Given the description of an element on the screen output the (x, y) to click on. 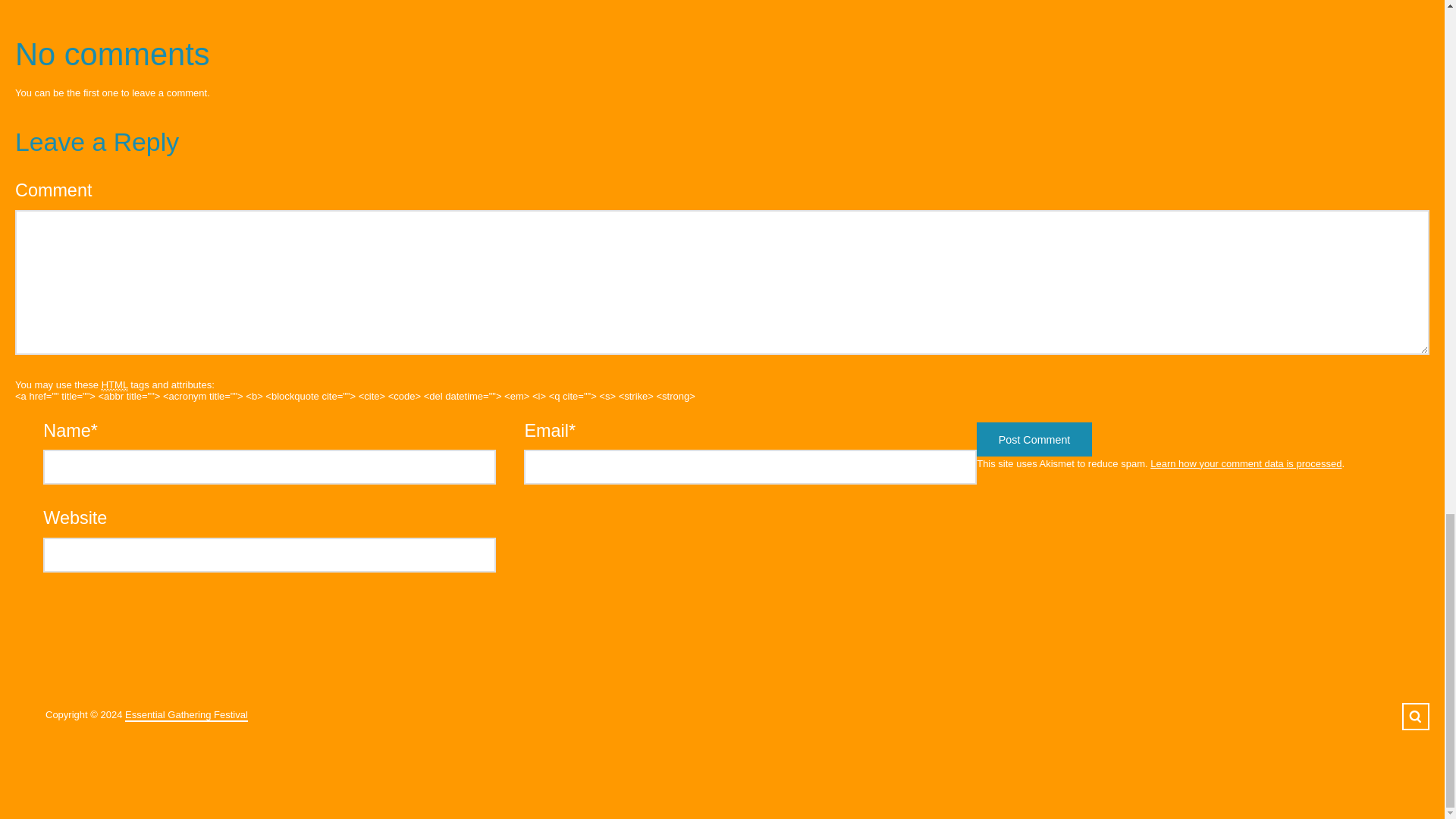
HyperText Markup Language (114, 385)
Post Comment (1034, 439)
Search ... (1415, 716)
Essential Gathering Festival (186, 714)
